Given the description of an element on the screen output the (x, y) to click on. 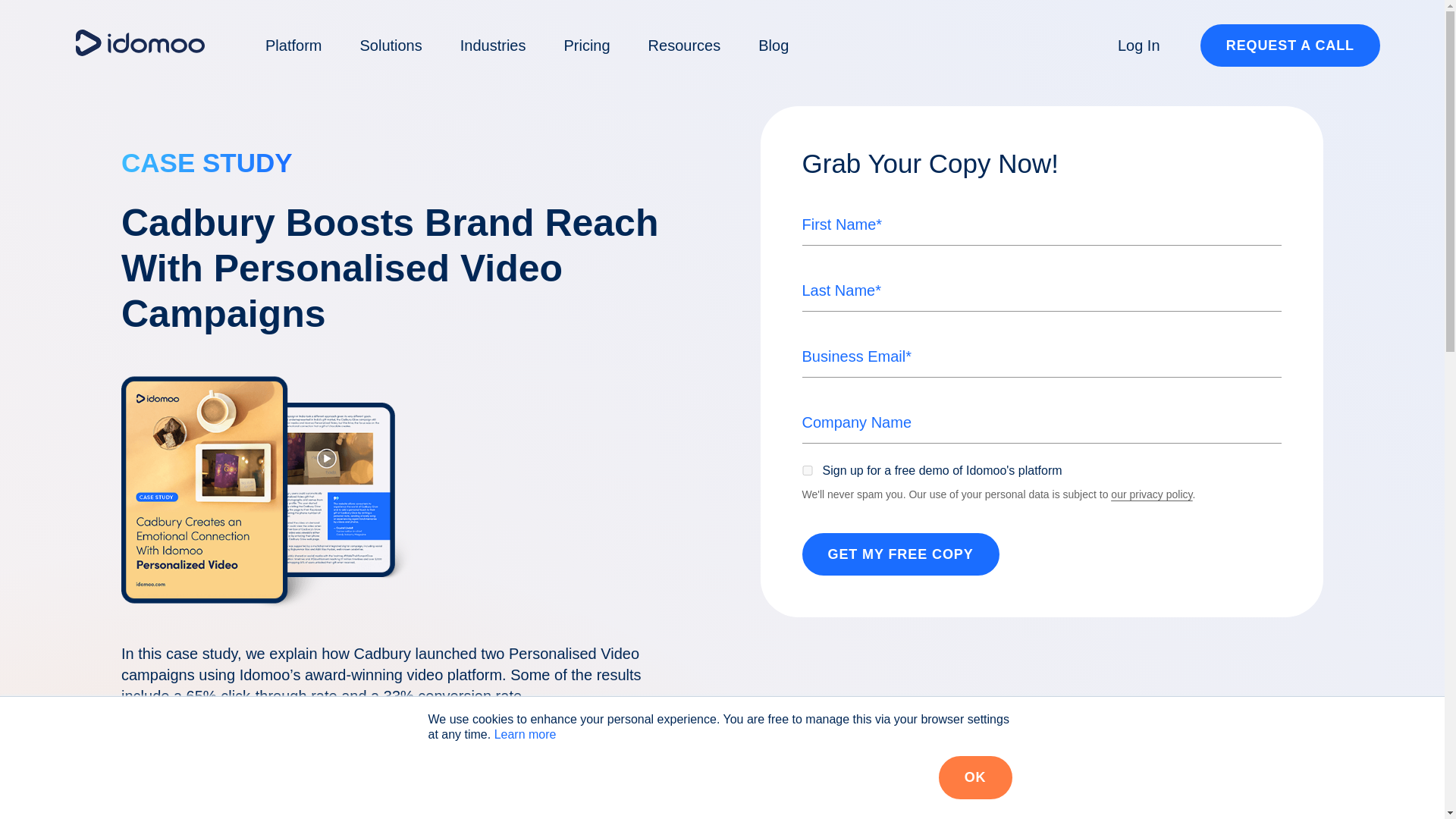
Solutions (390, 45)
Get My Free Copy (900, 554)
true (807, 470)
Learn more (525, 734)
Pricing (586, 45)
Platform (293, 45)
Industries (492, 45)
OK (975, 777)
Resources (683, 45)
